Given the description of an element on the screen output the (x, y) to click on. 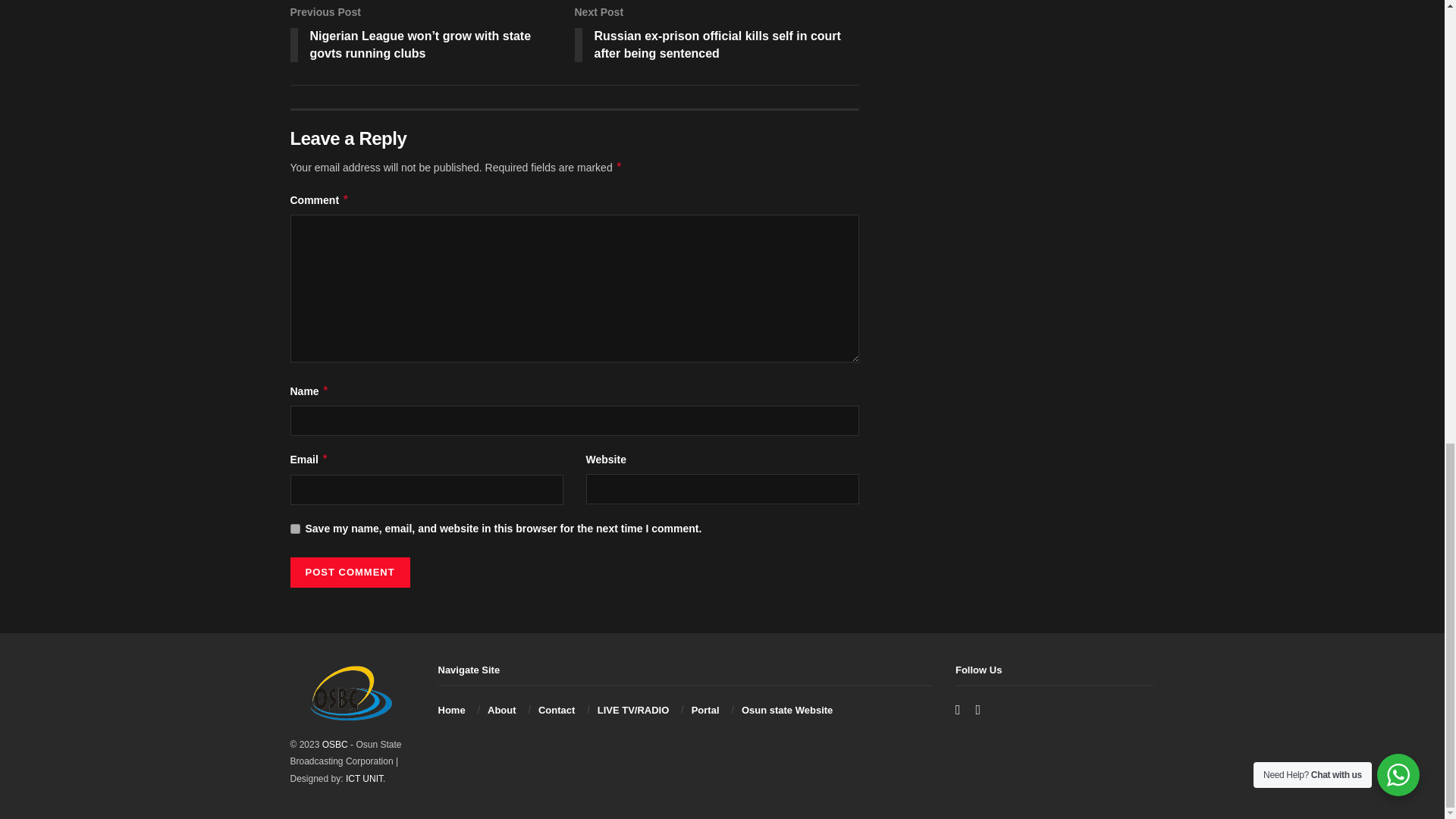
ICT UNIT (364, 778)
Osun State Broadcasting Corporation (334, 744)
Post Comment (349, 572)
yes (294, 528)
